Given the description of an element on the screen output the (x, y) to click on. 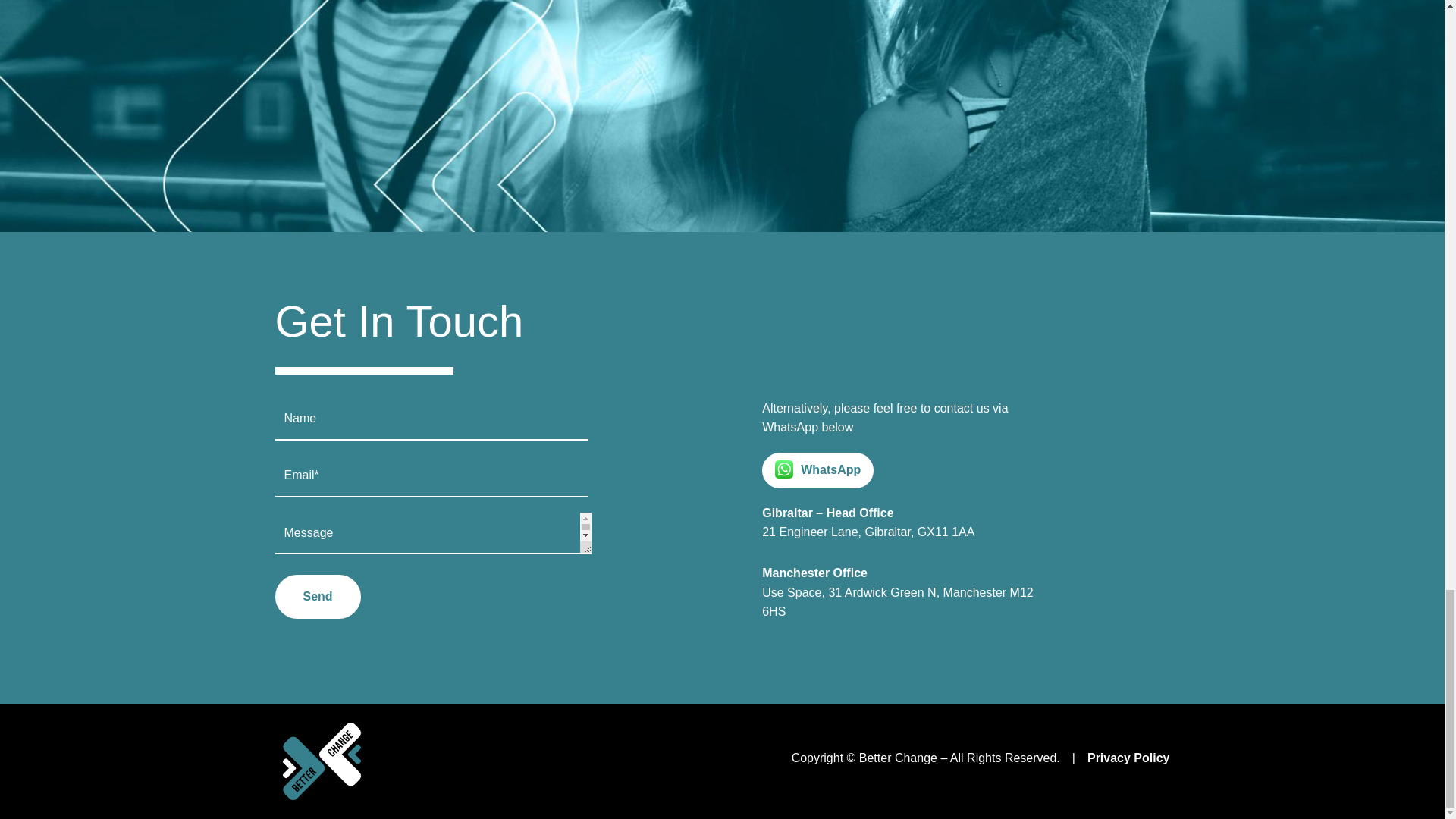
Send (317, 596)
